Given the description of an element on the screen output the (x, y) to click on. 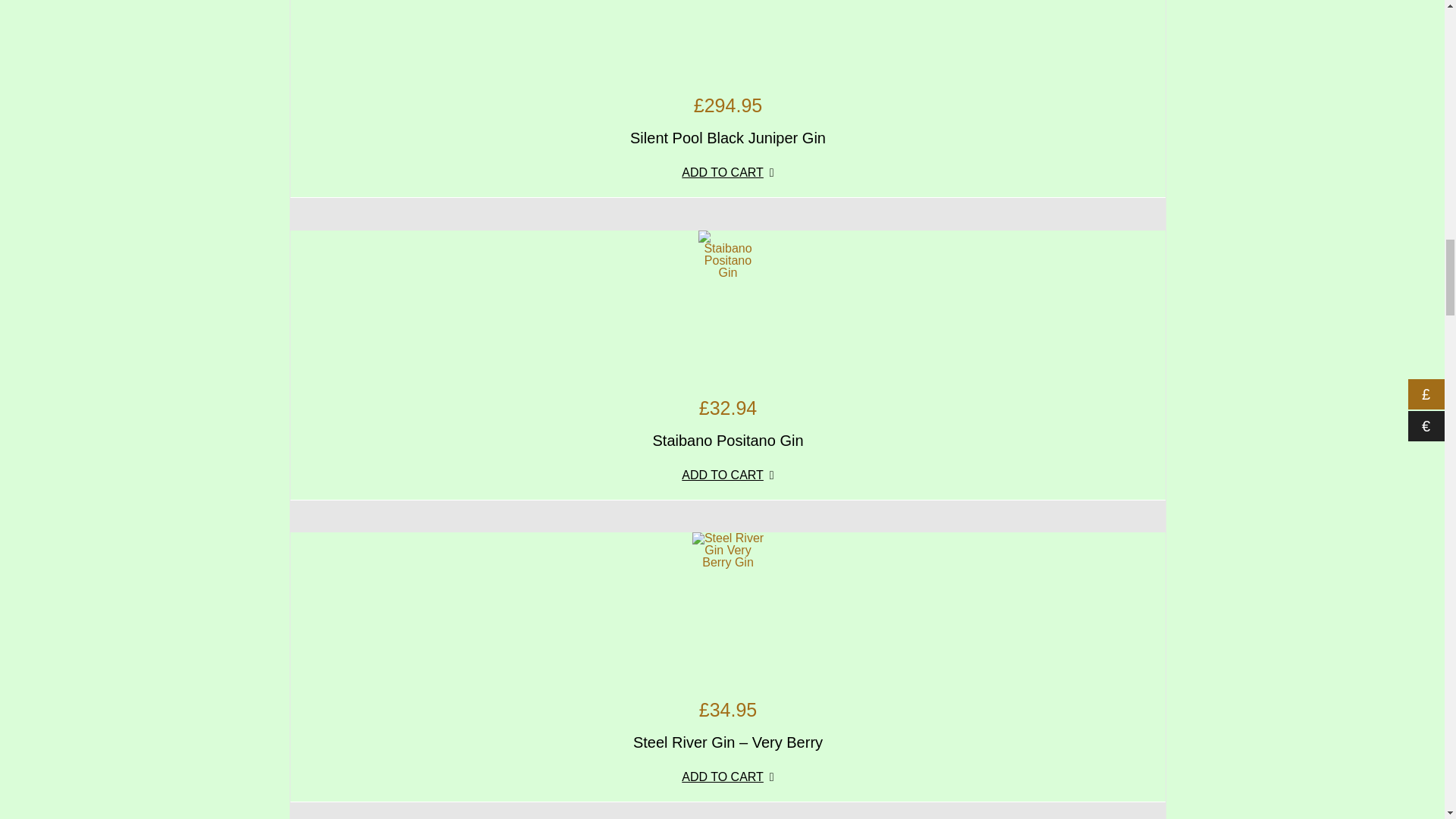
ADD TO CART (727, 178)
ADD TO CART (727, 481)
ADD TO CART (727, 782)
